Given the description of an element on the screen output the (x, y) to click on. 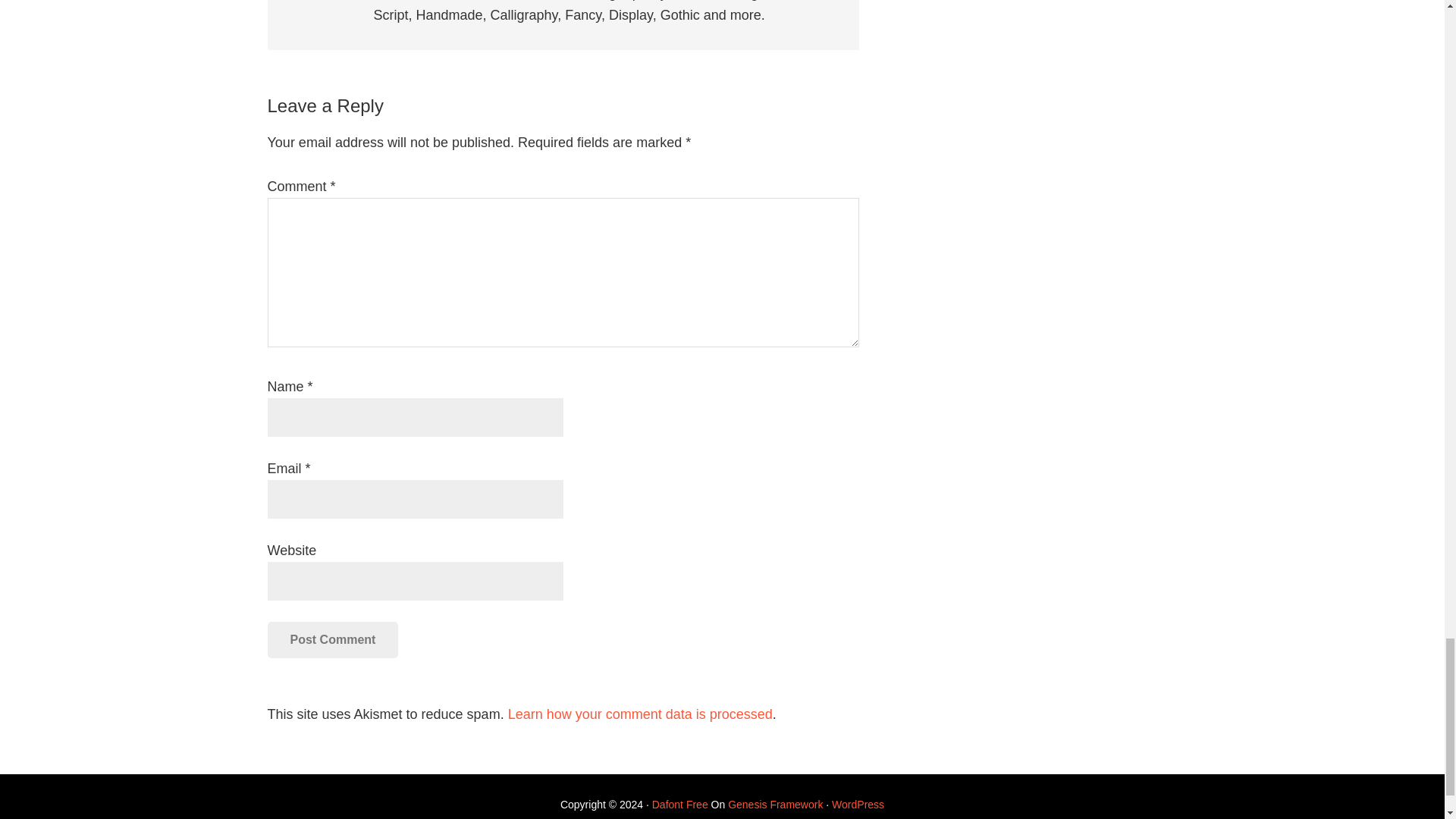
Post Comment (331, 639)
Post Comment (331, 639)
Learn how your comment data is processed (640, 713)
